Given the description of an element on the screen output the (x, y) to click on. 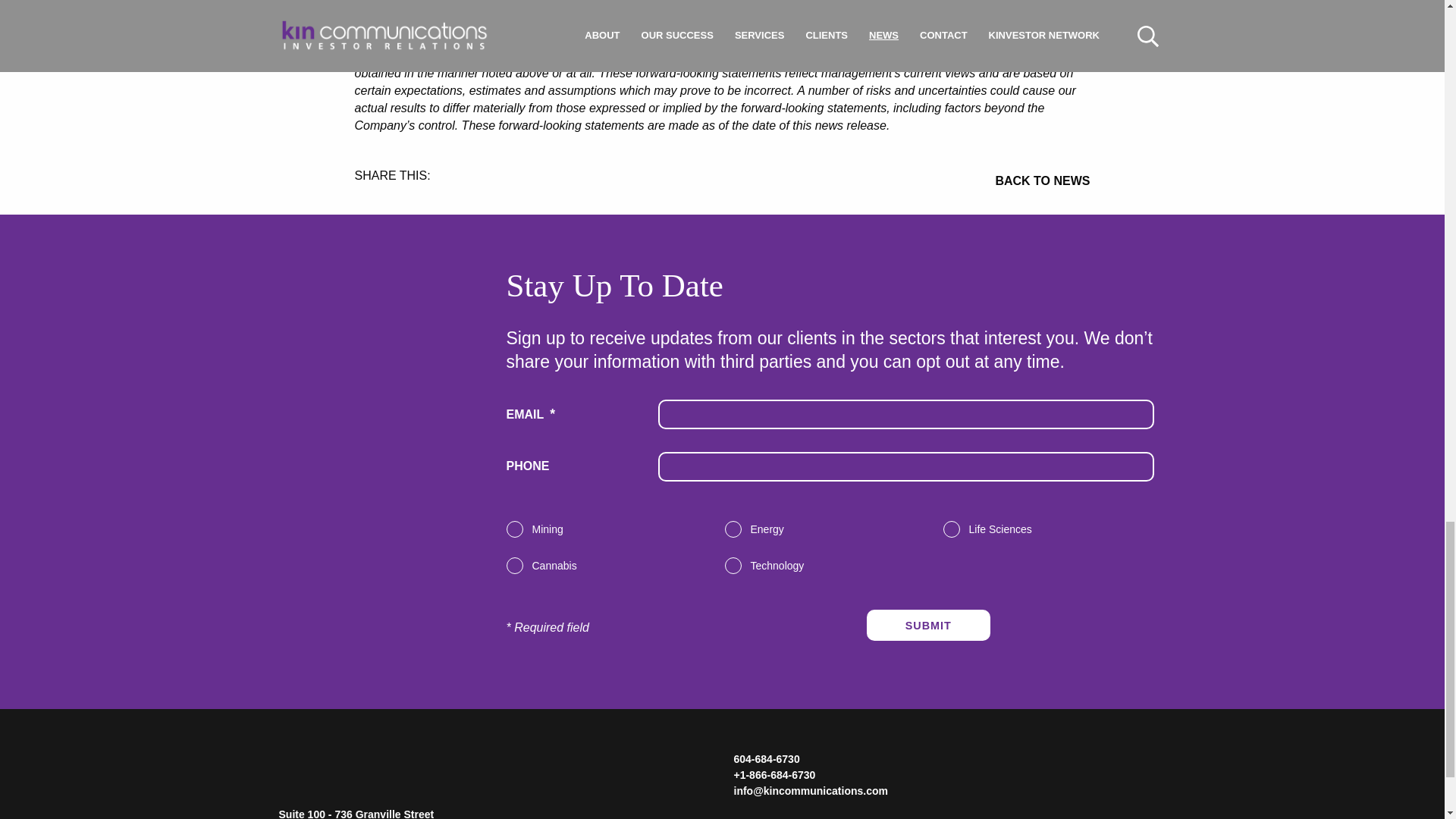
  BACK TO NEWS (905, 180)
Submit (928, 624)
